Given the description of an element on the screen output the (x, y) to click on. 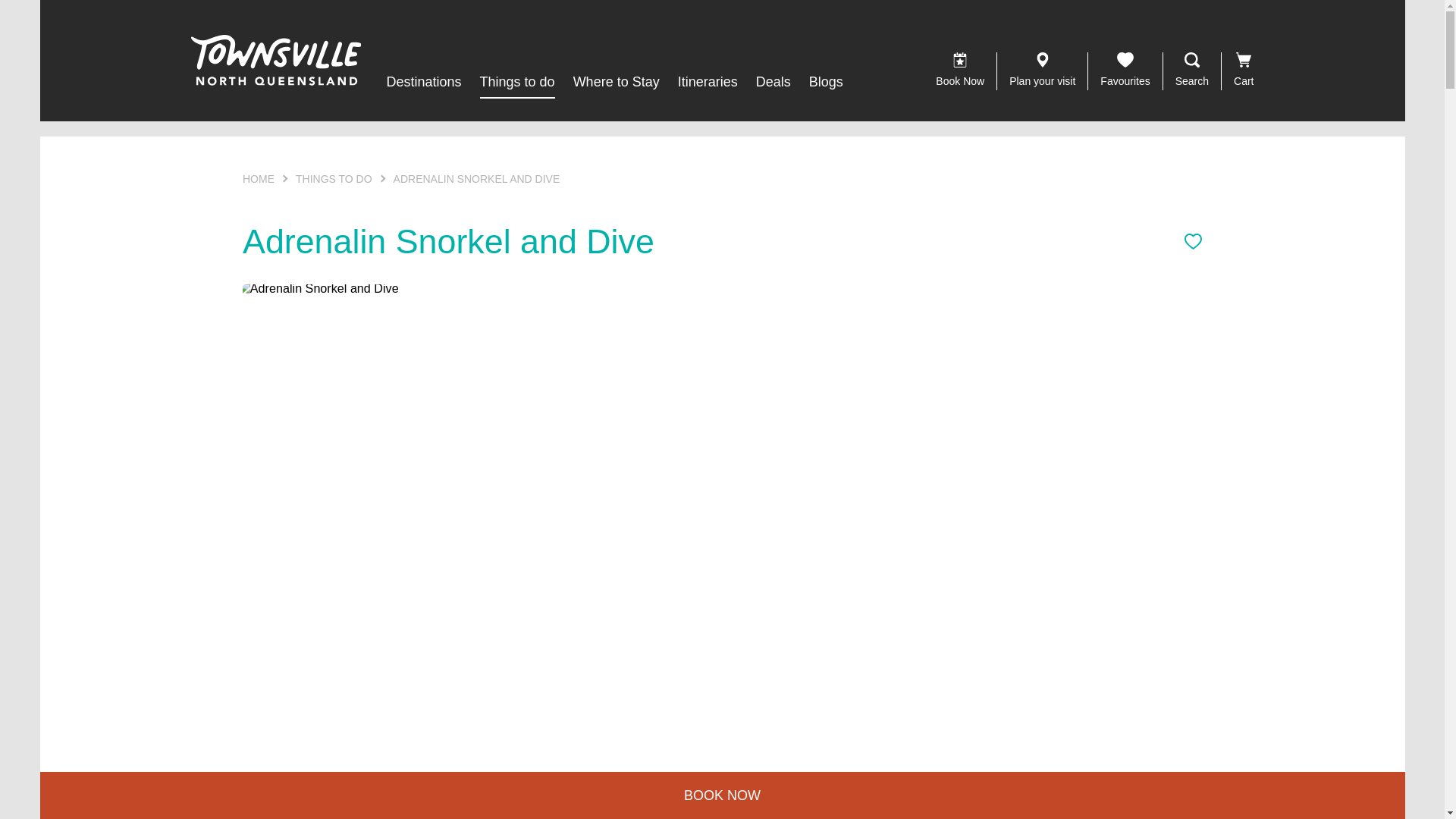
Book Now (959, 71)
Destinations (423, 81)
Destinations (423, 81)
BOOK NOW (722, 795)
Things to do (517, 81)
Search (1191, 71)
Plan your visit (1041, 71)
Things to do (517, 81)
Favourites (1124, 71)
Cart (1243, 71)
